Given the description of an element on the screen output the (x, y) to click on. 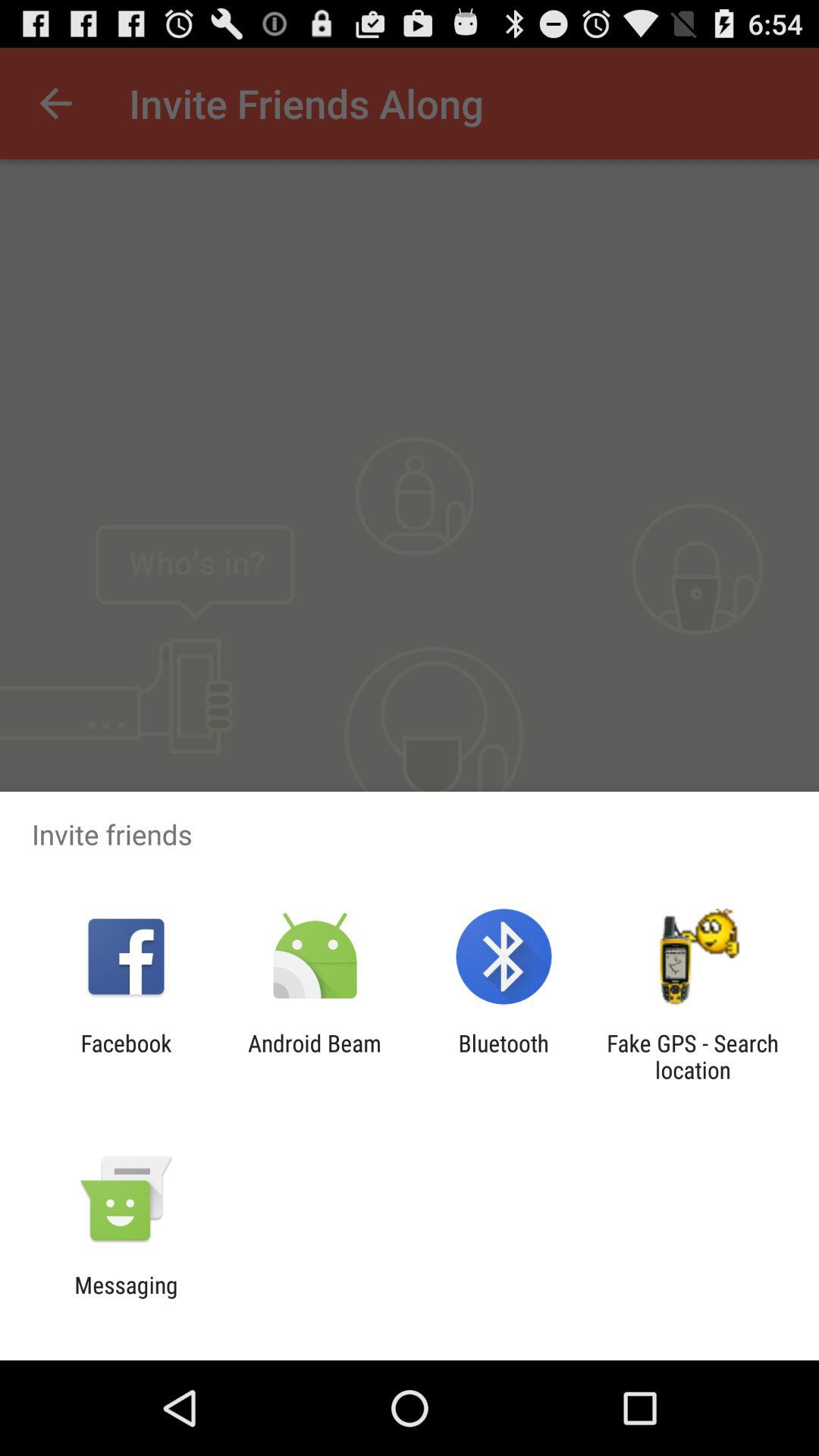
scroll until the bluetooth item (503, 1056)
